Given the description of an element on the screen output the (x, y) to click on. 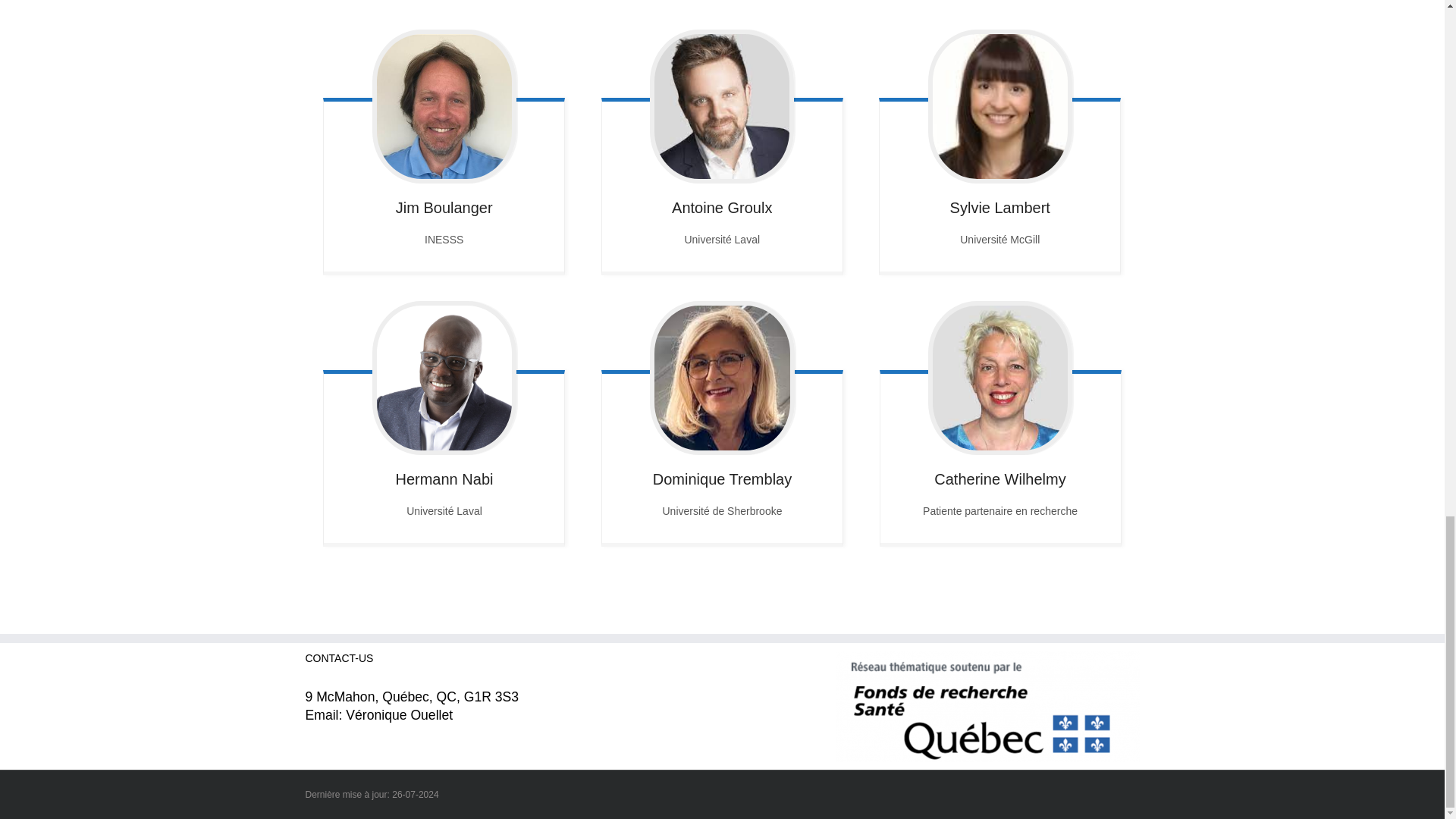
Hermann  Nabi  (443, 377)
Sylvie  Lambert (999, 105)
Jim Boulanger (443, 105)
Dominique  Tremblay (722, 377)
Antoine  Groulx  (722, 105)
